Given the description of an element on the screen output the (x, y) to click on. 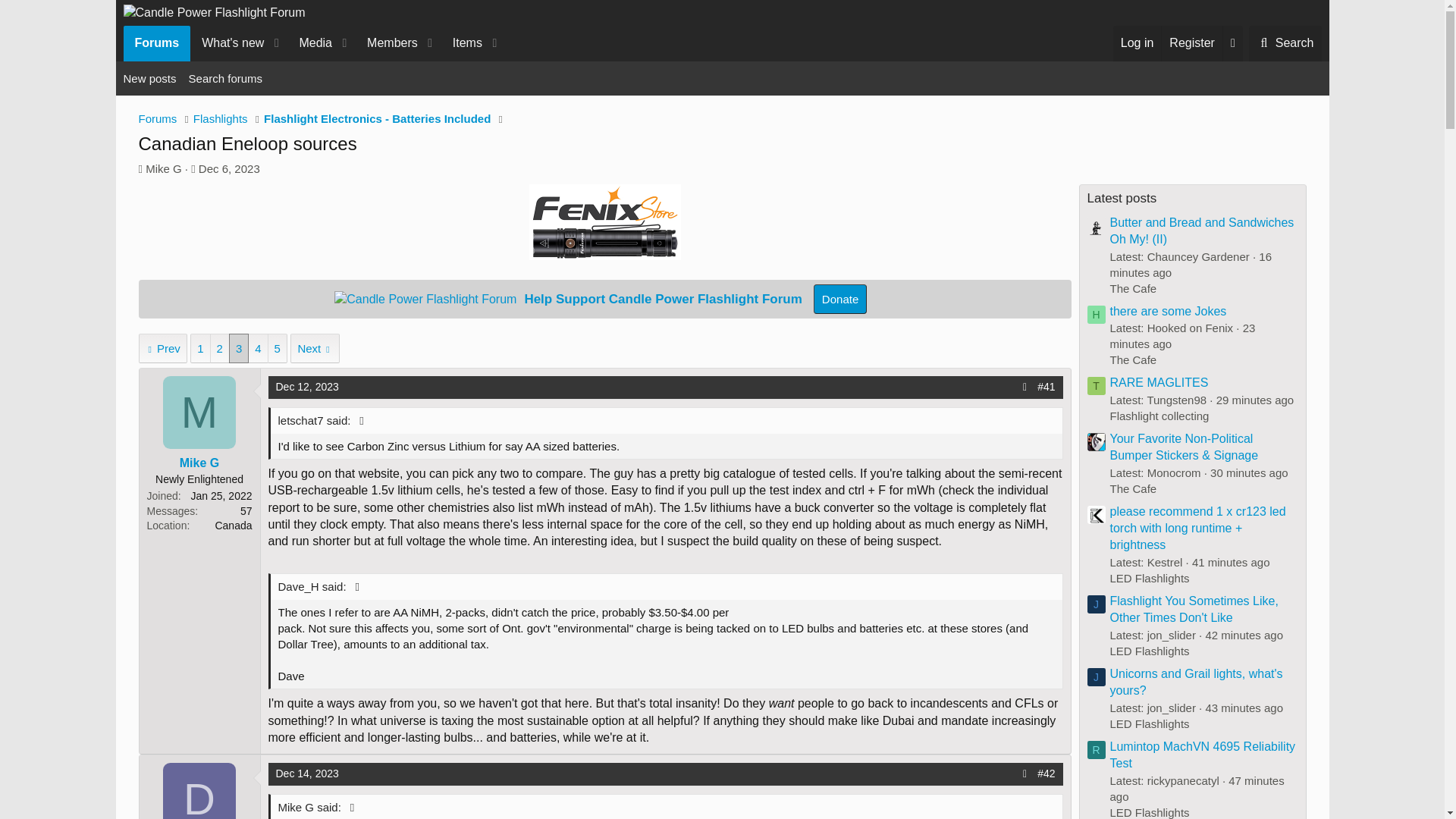
Dec 6, 2023 at 12:47 AM (229, 168)
Items (462, 42)
Dec 14, 2023 at 8:01 AM (307, 773)
PayPal - The safer, easier way to pay online! (314, 42)
Search (839, 298)
Register (314, 42)
Donate (1285, 42)
